Given the description of an element on the screen output the (x, y) to click on. 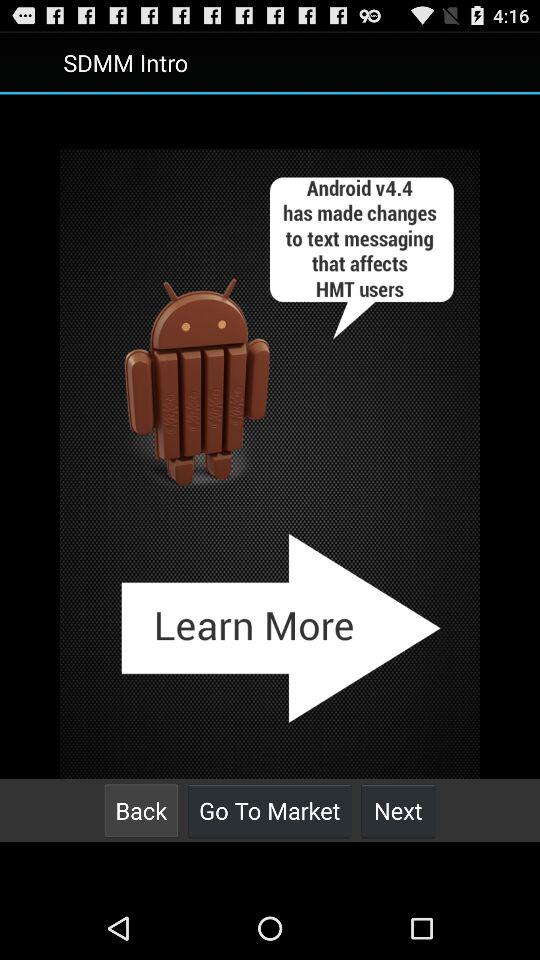
turn off back icon (141, 810)
